Given the description of an element on the screen output the (x, y) to click on. 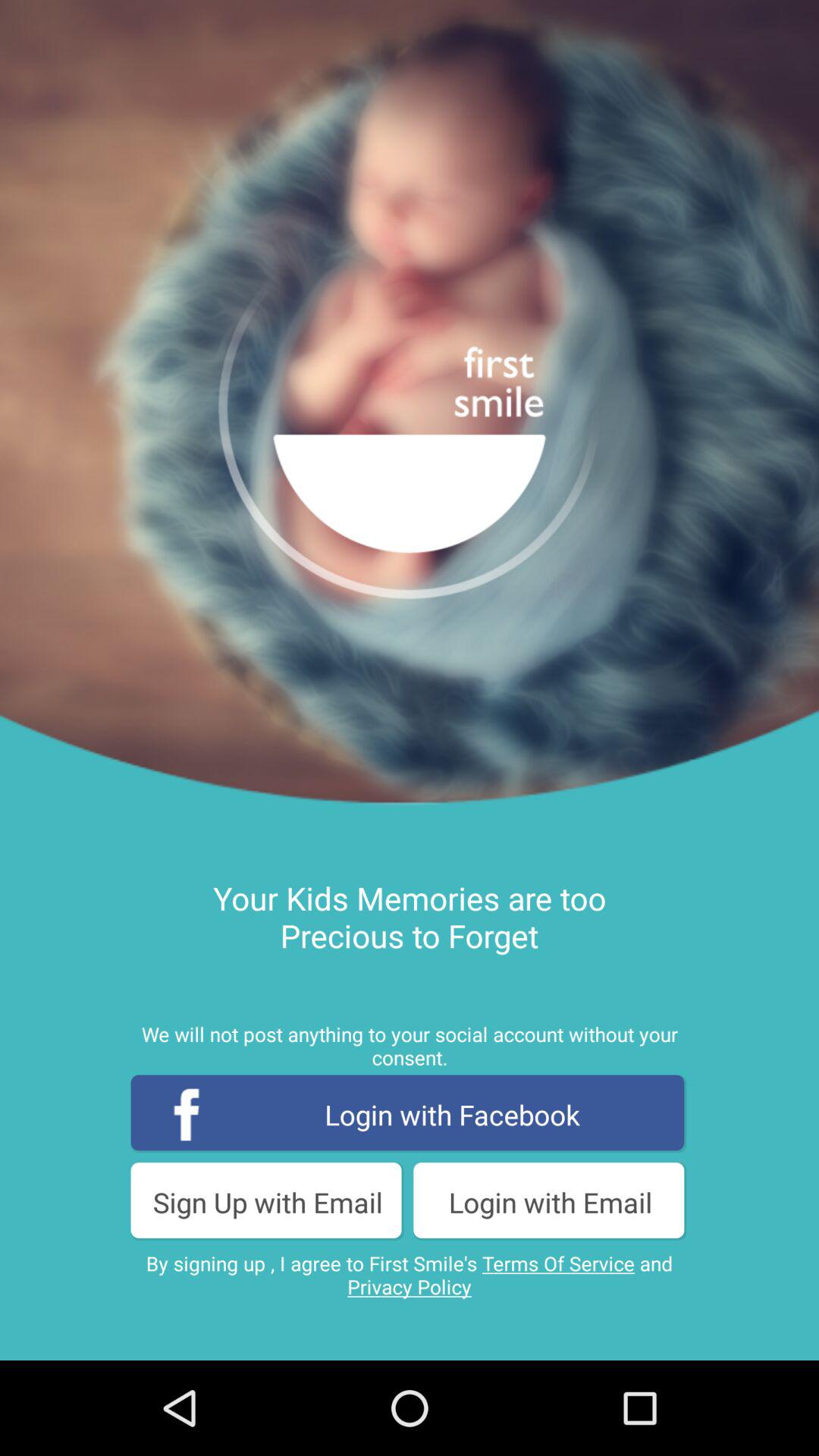
open item below login with facebook icon (267, 1202)
